Given the description of an element on the screen output the (x, y) to click on. 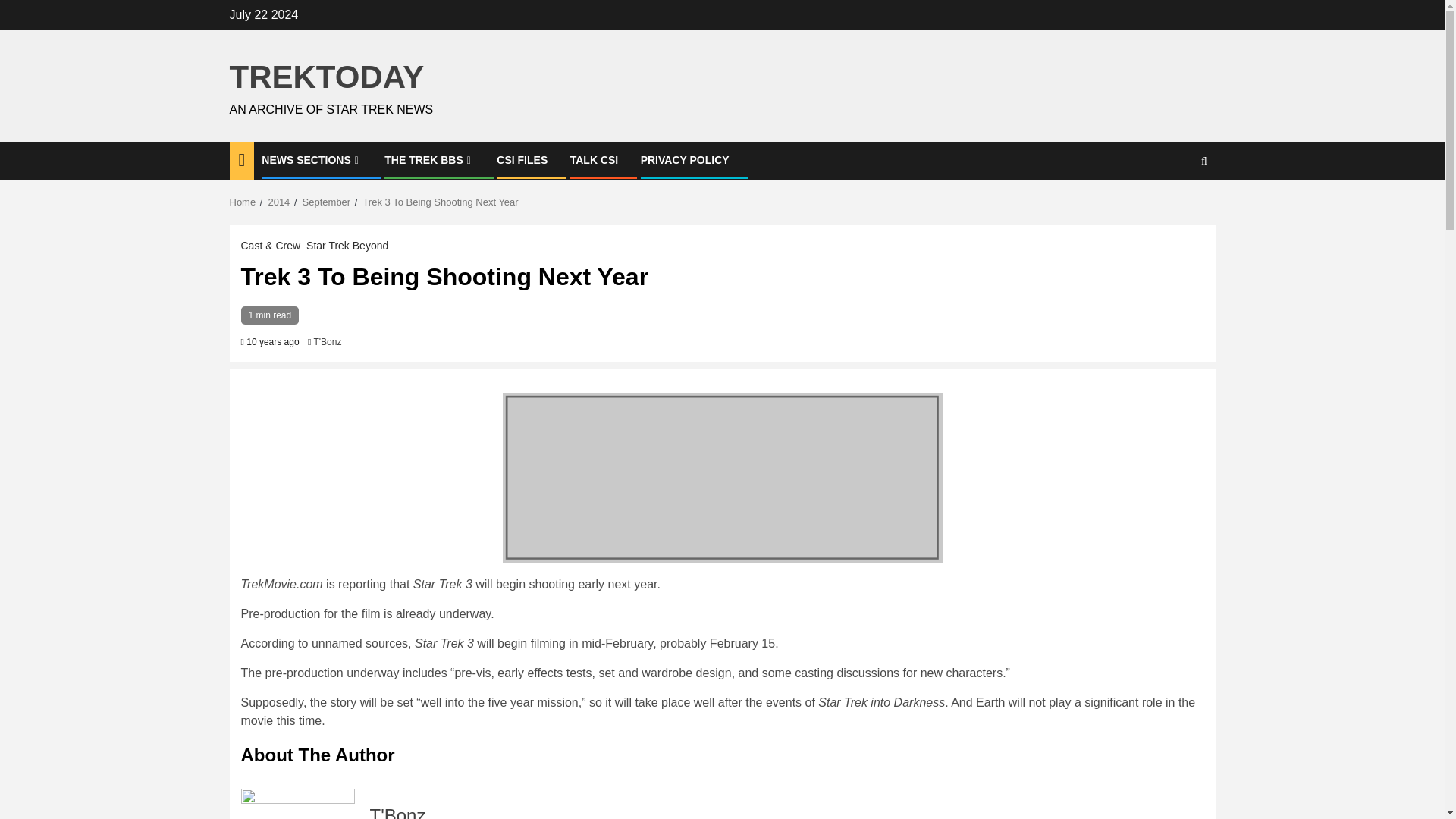
TALK CSI (594, 159)
T'Bonz (397, 812)
THE TREK BBS (429, 159)
Star Trek Beyond (346, 247)
T'Bonz (326, 341)
TREKTODAY (325, 76)
Trek 3 To Being Shooting Next Year (440, 202)
2014 (278, 202)
September (326, 202)
Search (1174, 206)
PRIVACY POLICY (684, 159)
CSI FILES (521, 159)
NEWS SECTIONS (312, 159)
Home (242, 202)
